Given the description of an element on the screen output the (x, y) to click on. 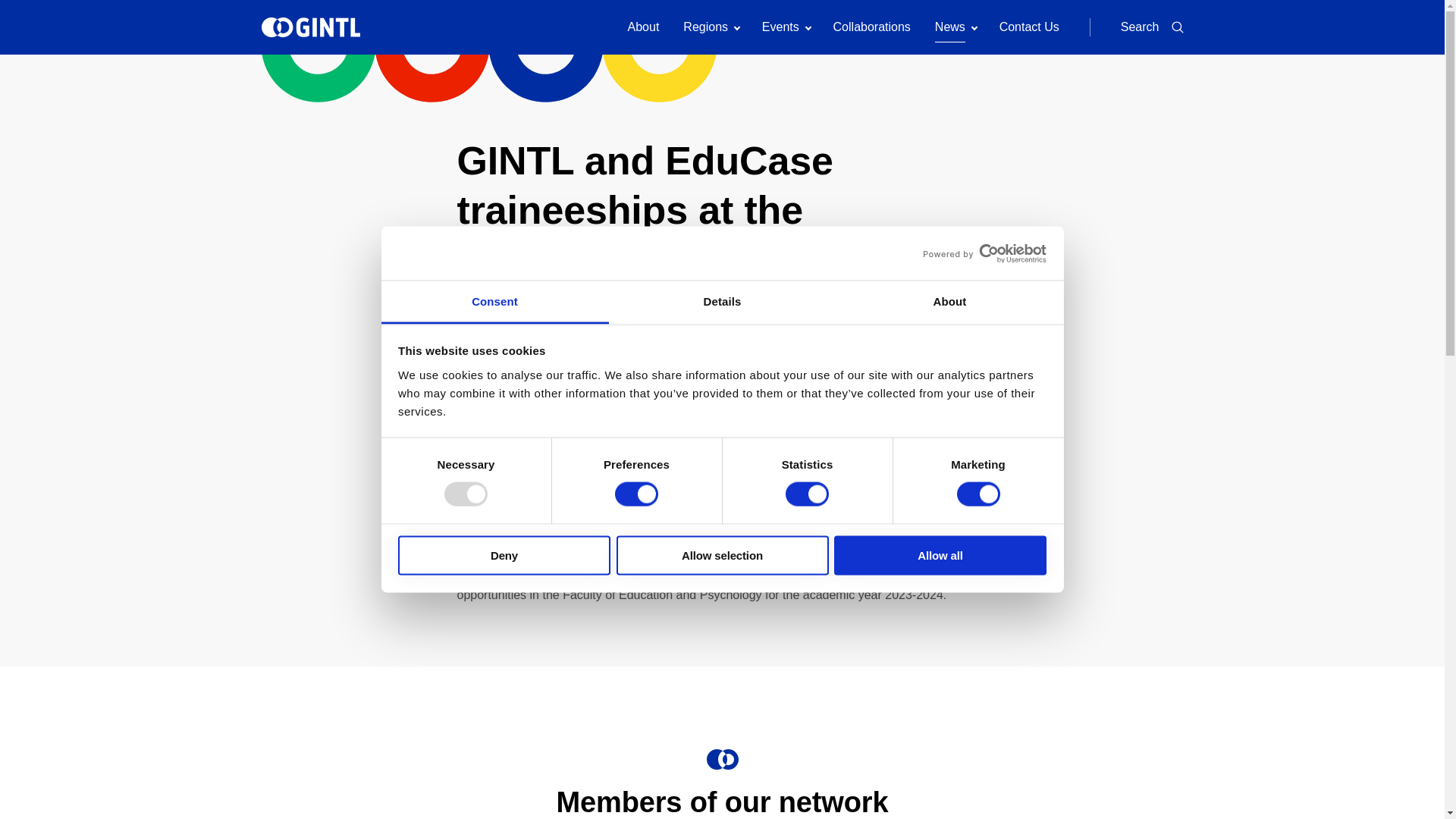
Allow selection (721, 555)
About (948, 301)
Details (721, 301)
Allow all (940, 555)
Deny (503, 555)
Consent (494, 301)
